Given the description of an element on the screen output the (x, y) to click on. 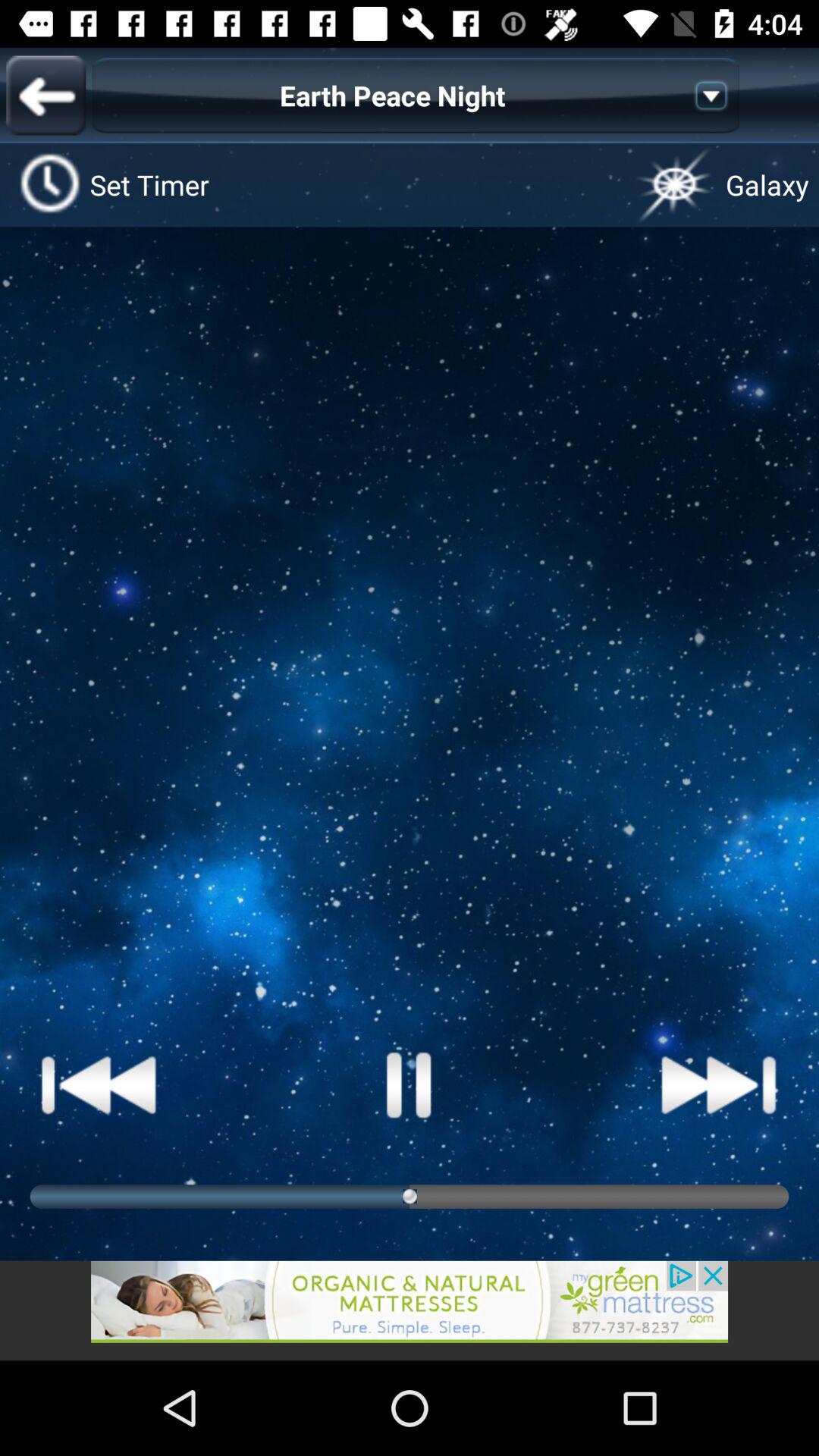
toggle forward (719, 1084)
